Given the description of an element on the screen output the (x, y) to click on. 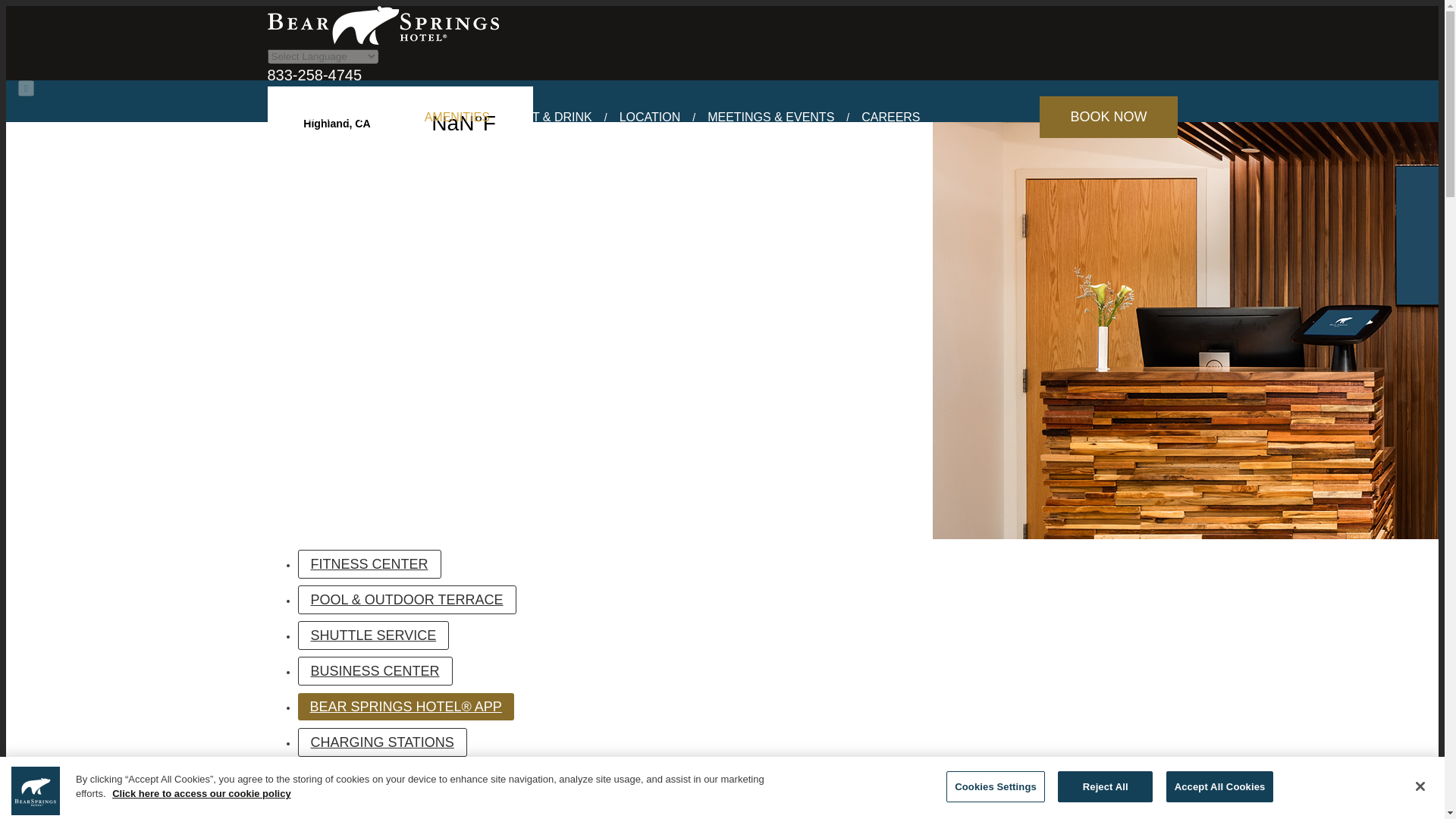
SHUTTLE SERVICE (372, 635)
Home (381, 40)
FITNESS CENTER (369, 563)
Skip to main content (722, 7)
LOCATION (649, 117)
Amenities (457, 117)
CHARGING STATIONS (381, 742)
BOOK NOW (1108, 117)
Accommodations (338, 117)
Highland, CA (399, 123)
CAREERS (891, 117)
BUSINESS CENTER (374, 670)
Weather Widget (399, 123)
AMENITIES (457, 117)
ACCOMMODATIONS (338, 117)
